Given the description of an element on the screen output the (x, y) to click on. 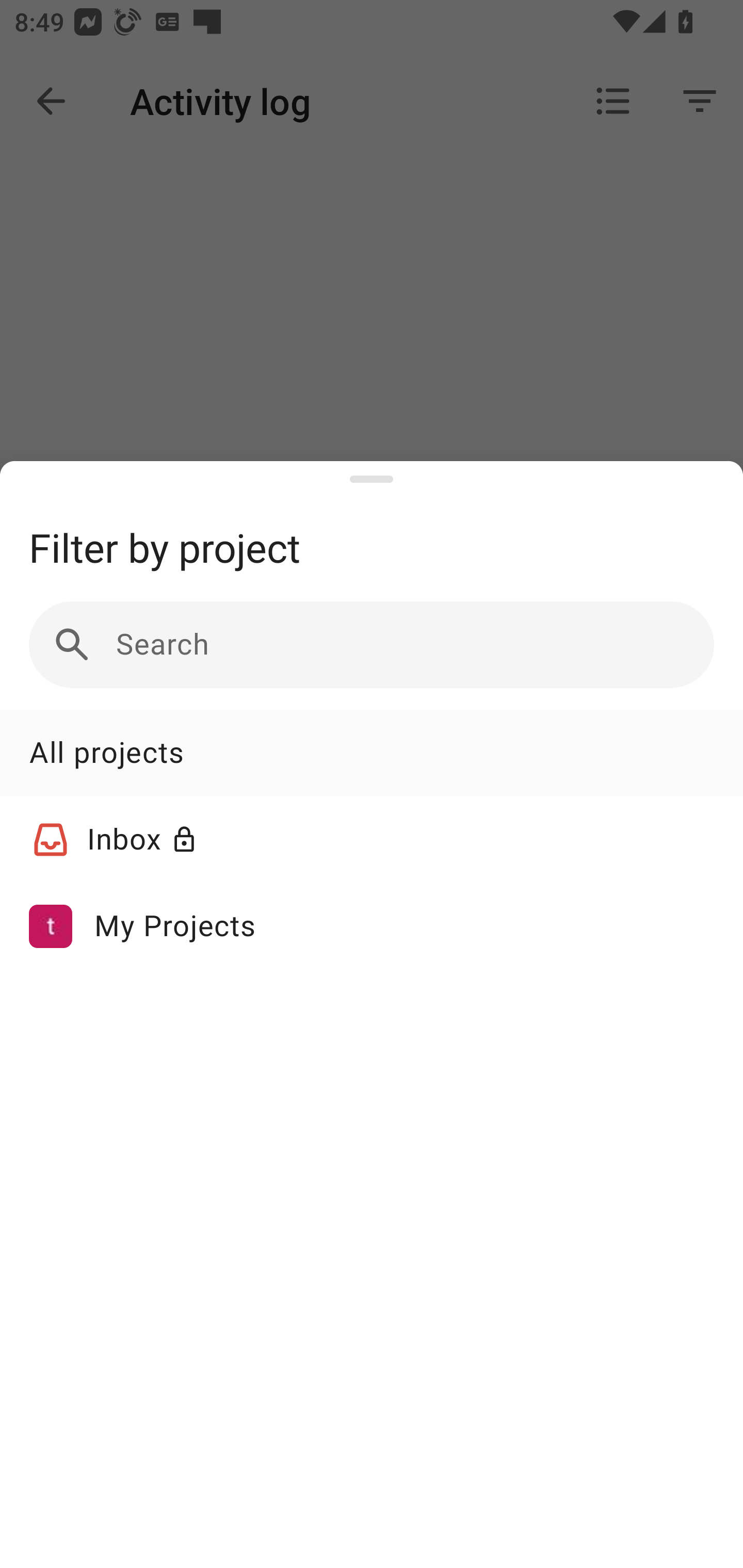
Search (371, 645)
All projects (371, 753)
Inbox Restricted project (371, 839)
My Projects (371, 925)
